Given the description of an element on the screen output the (x, y) to click on. 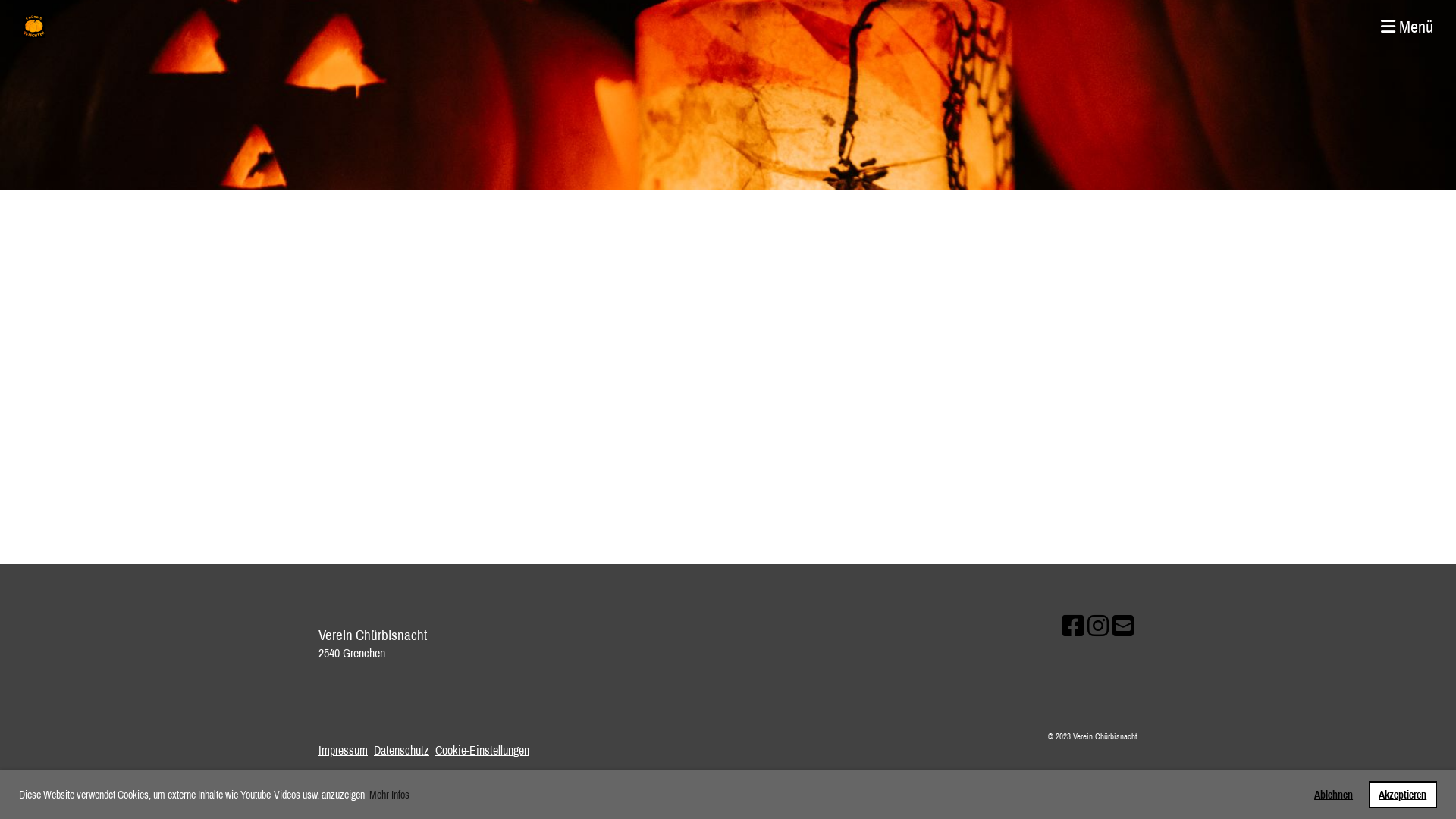
Ablehnen Element type: text (1333, 794)
Datenschutz Element type: text (401, 749)
Akzeptieren Element type: text (1402, 794)
Mehr Infos Element type: text (389, 794)
Impressum Element type: text (342, 749)
Cookie-Einstellungen Element type: text (482, 749)
